Given the description of an element on the screen output the (x, y) to click on. 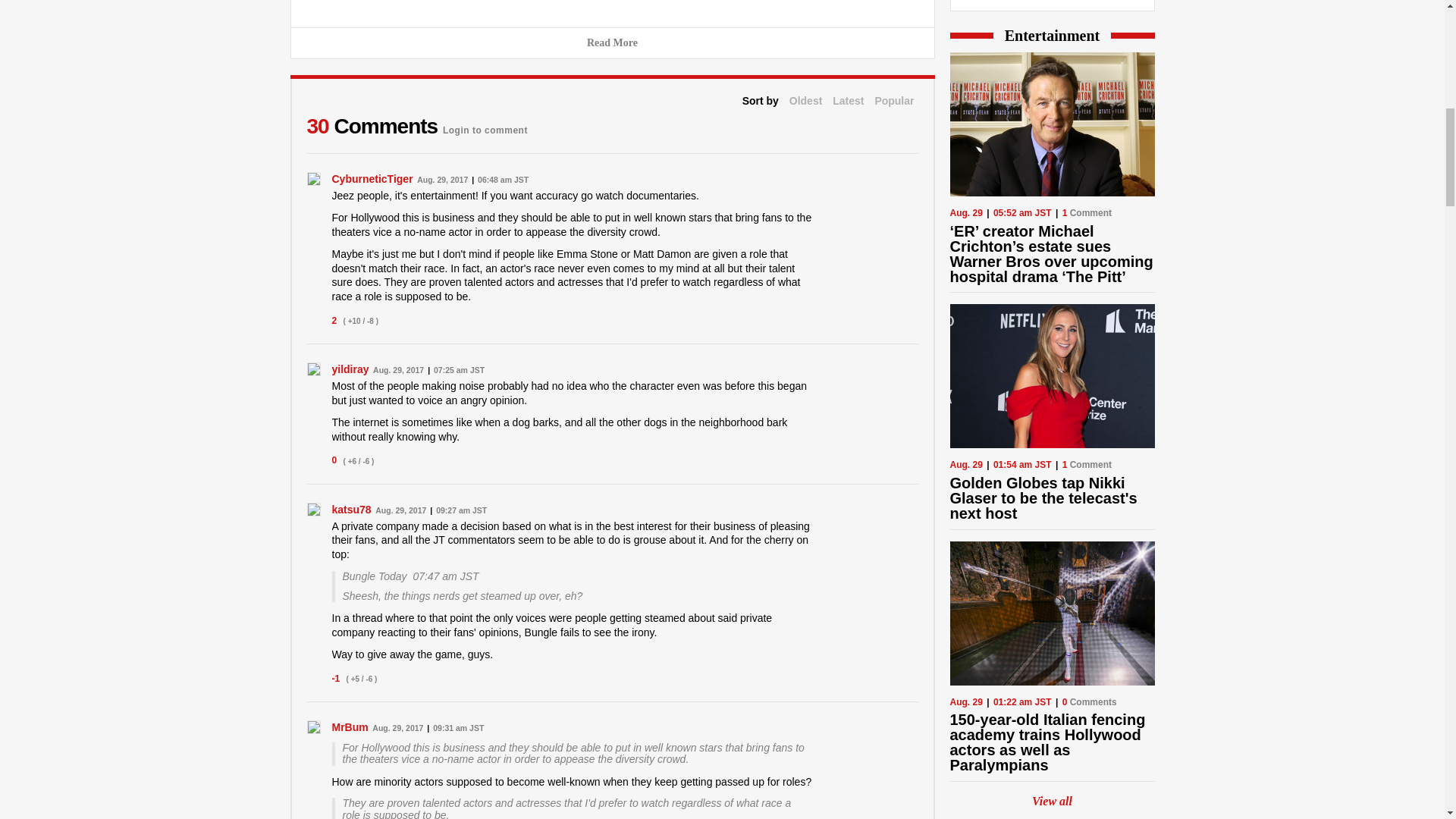
Popularity (894, 101)
Latest (847, 101)
Oldest (805, 101)
Login to comment (484, 126)
